Given the description of an element on the screen output the (x, y) to click on. 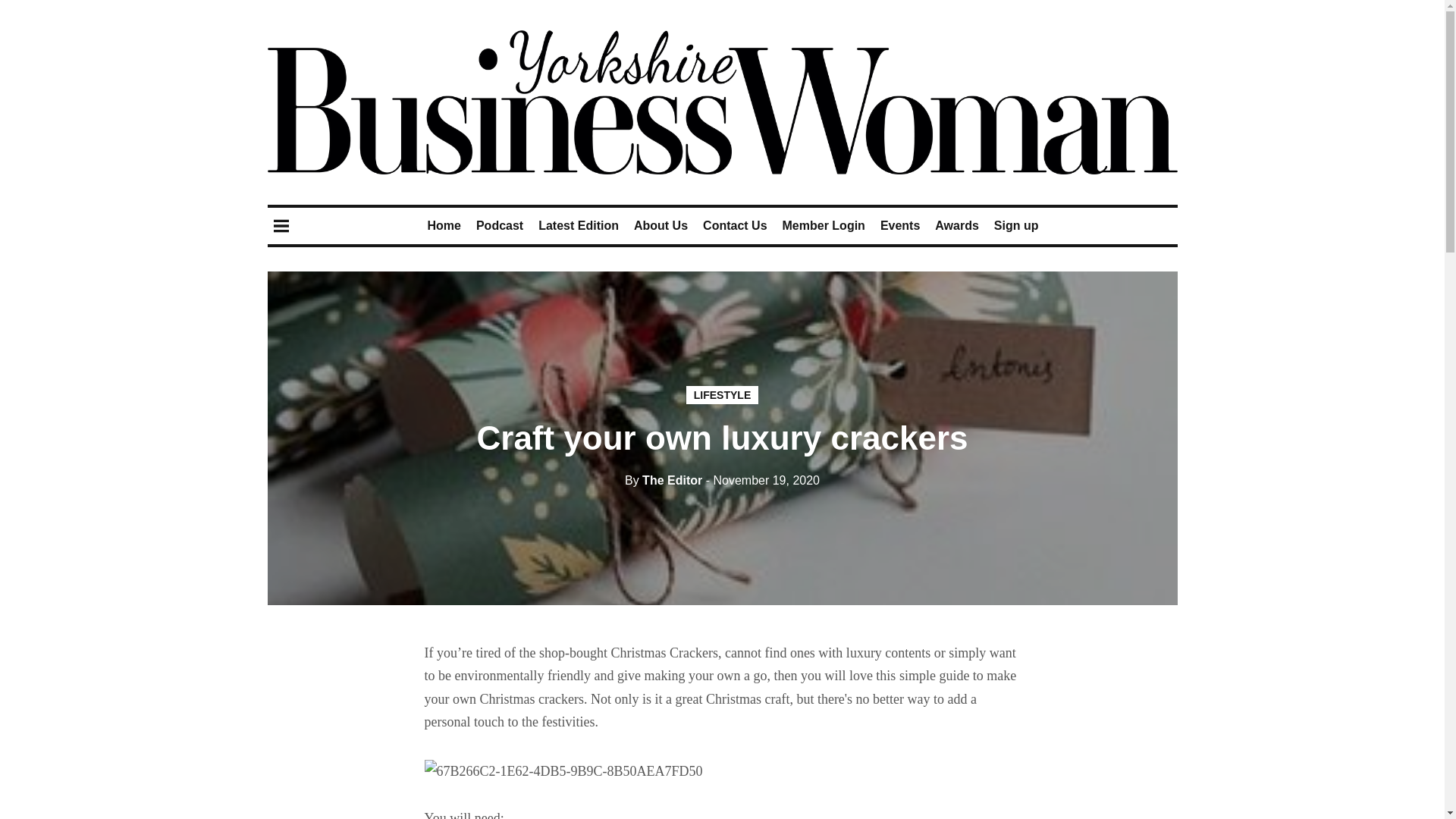
LIFESTYLE (721, 394)
Home (443, 225)
Contact Us (735, 225)
Awards (956, 225)
By The Editor (662, 480)
About Us (660, 225)
Podcast (499, 225)
19 November, 2020 (762, 480)
Events (900, 225)
Sign up (1016, 225)
